Given the description of an element on the screen output the (x, y) to click on. 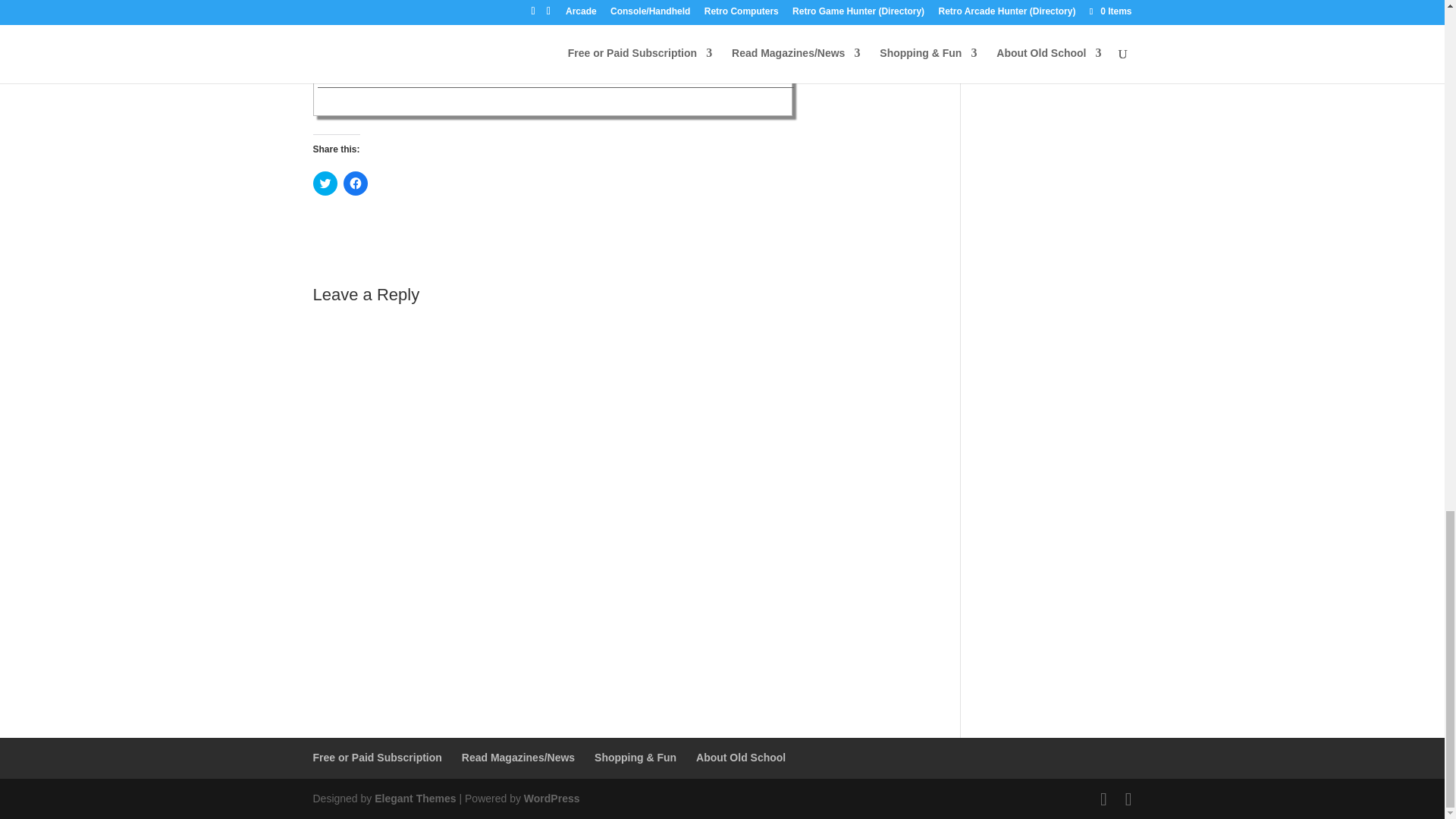
Premium WordPress Themes (414, 798)
Click to share on Twitter (324, 183)
Click to share on Facebook (354, 183)
